Given the description of an element on the screen output the (x, y) to click on. 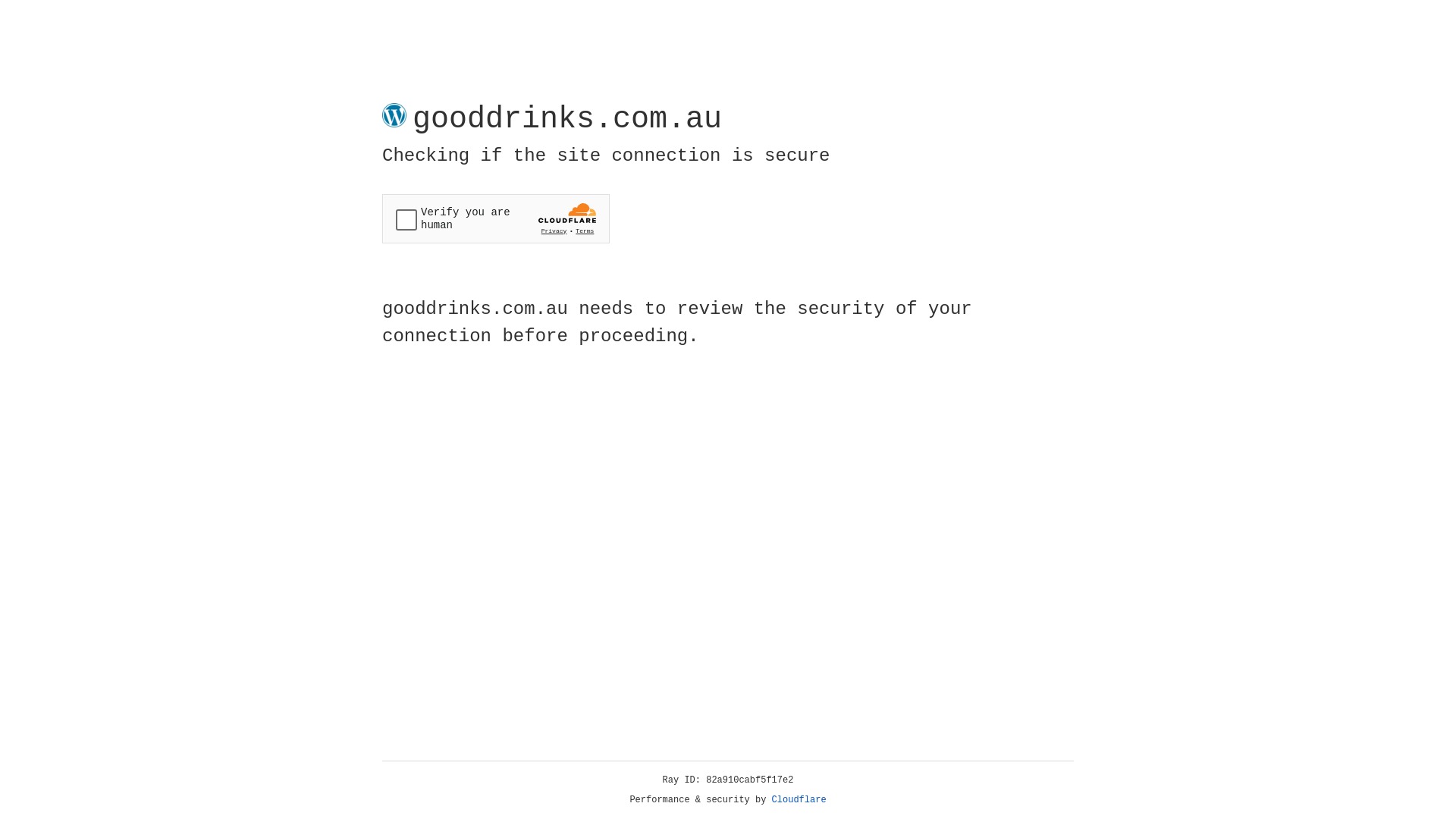
Widget containing a Cloudflare security challenge Element type: hover (495, 218)
Cloudflare Element type: text (798, 799)
